Given the description of an element on the screen output the (x, y) to click on. 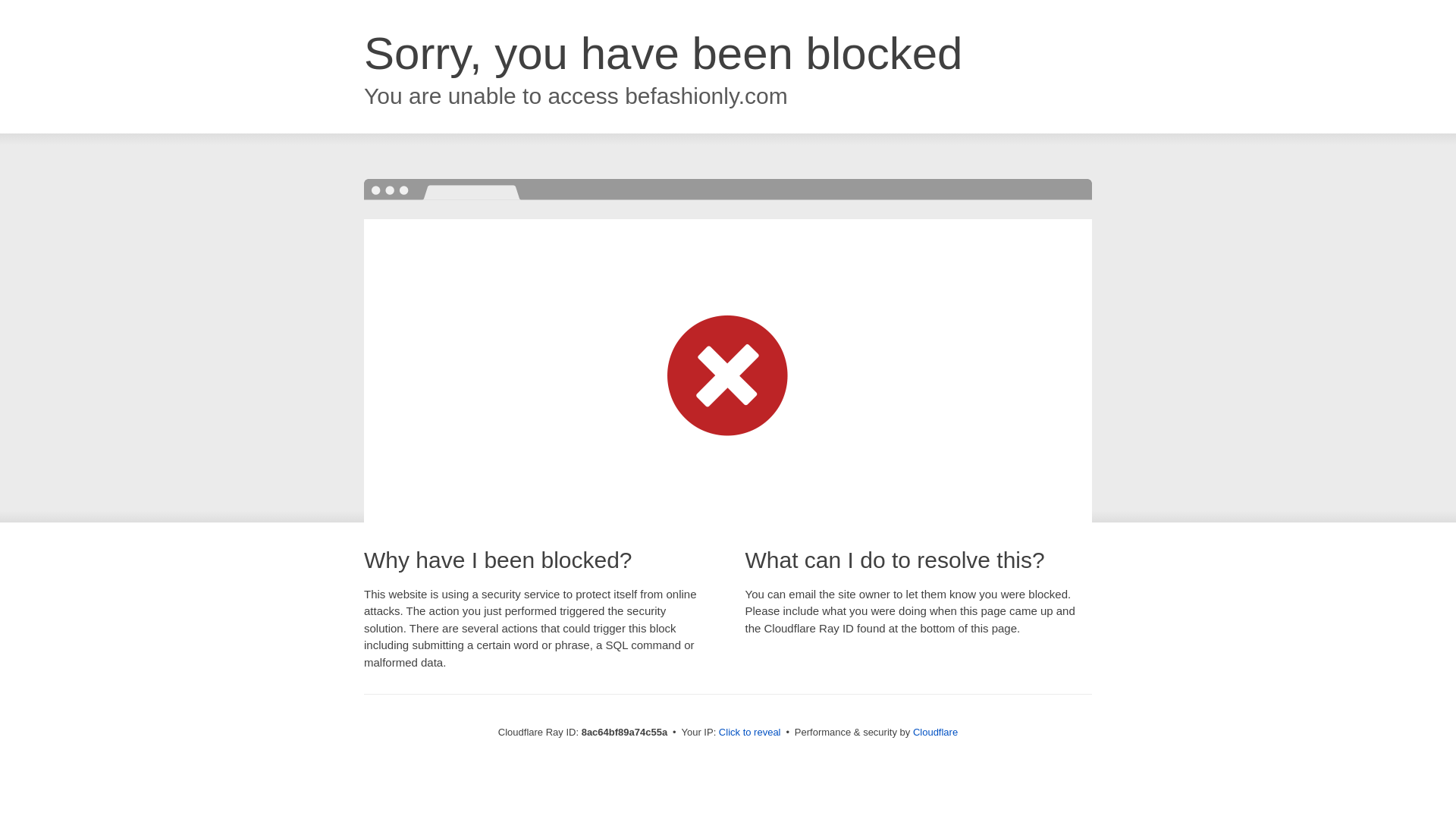
Cloudflare (935, 731)
Click to reveal (749, 732)
